Given the description of an element on the screen output the (x, y) to click on. 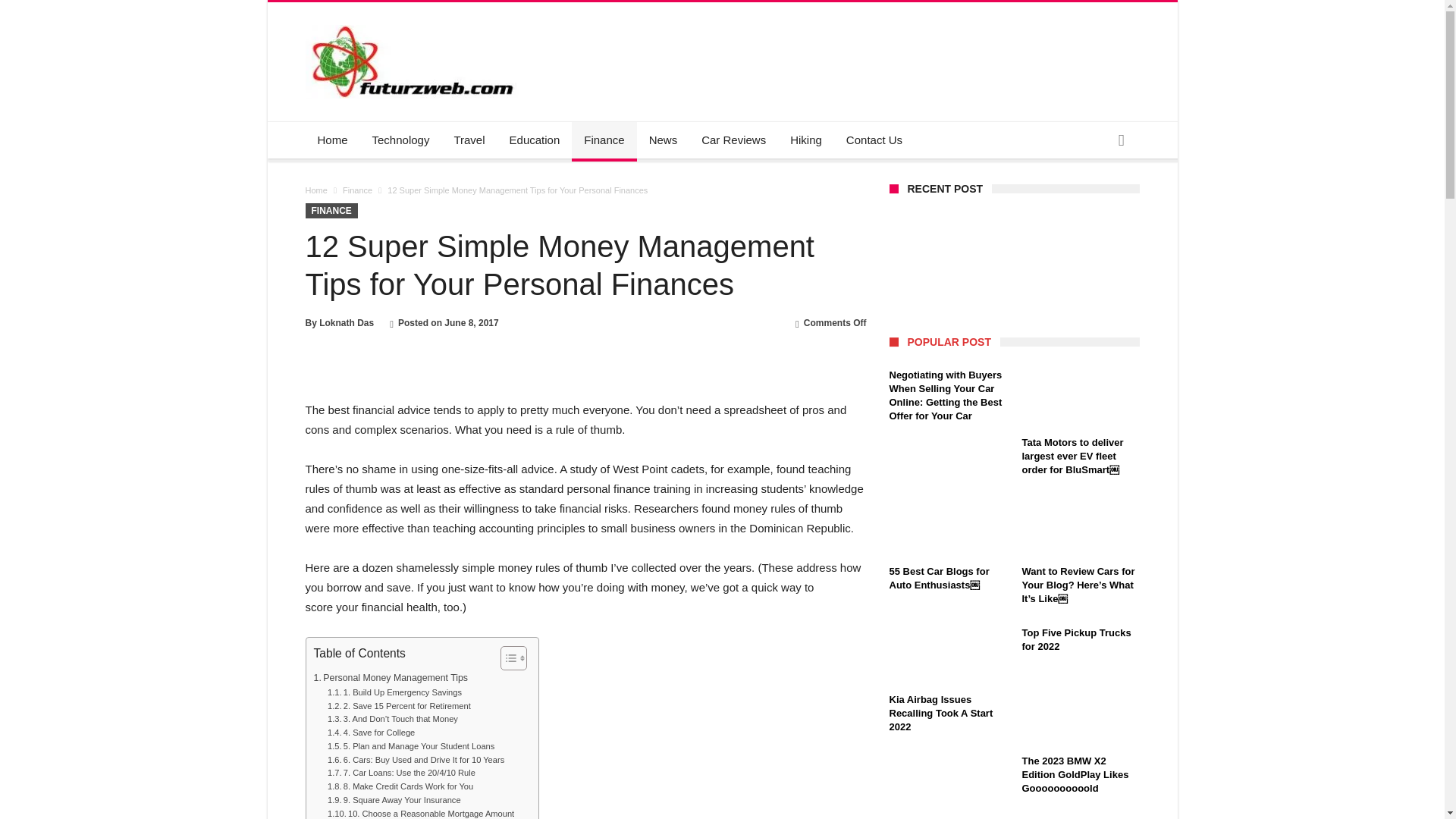
Car Reviews (732, 140)
FINANCE (330, 210)
Loknath Das (346, 322)
Home (315, 189)
Finance (604, 140)
10. Choose a Reasonable Mortgage Amount (420, 813)
1. Build Up Emergency Savings (394, 693)
Futurzweb (414, 24)
2. Save 15 Percent for Retirement (398, 706)
News (663, 140)
1. Build Up Emergency Savings (394, 693)
Finance (357, 189)
8. Make Credit Cards Work for You (400, 786)
Technology (400, 140)
